Given the description of an element on the screen output the (x, y) to click on. 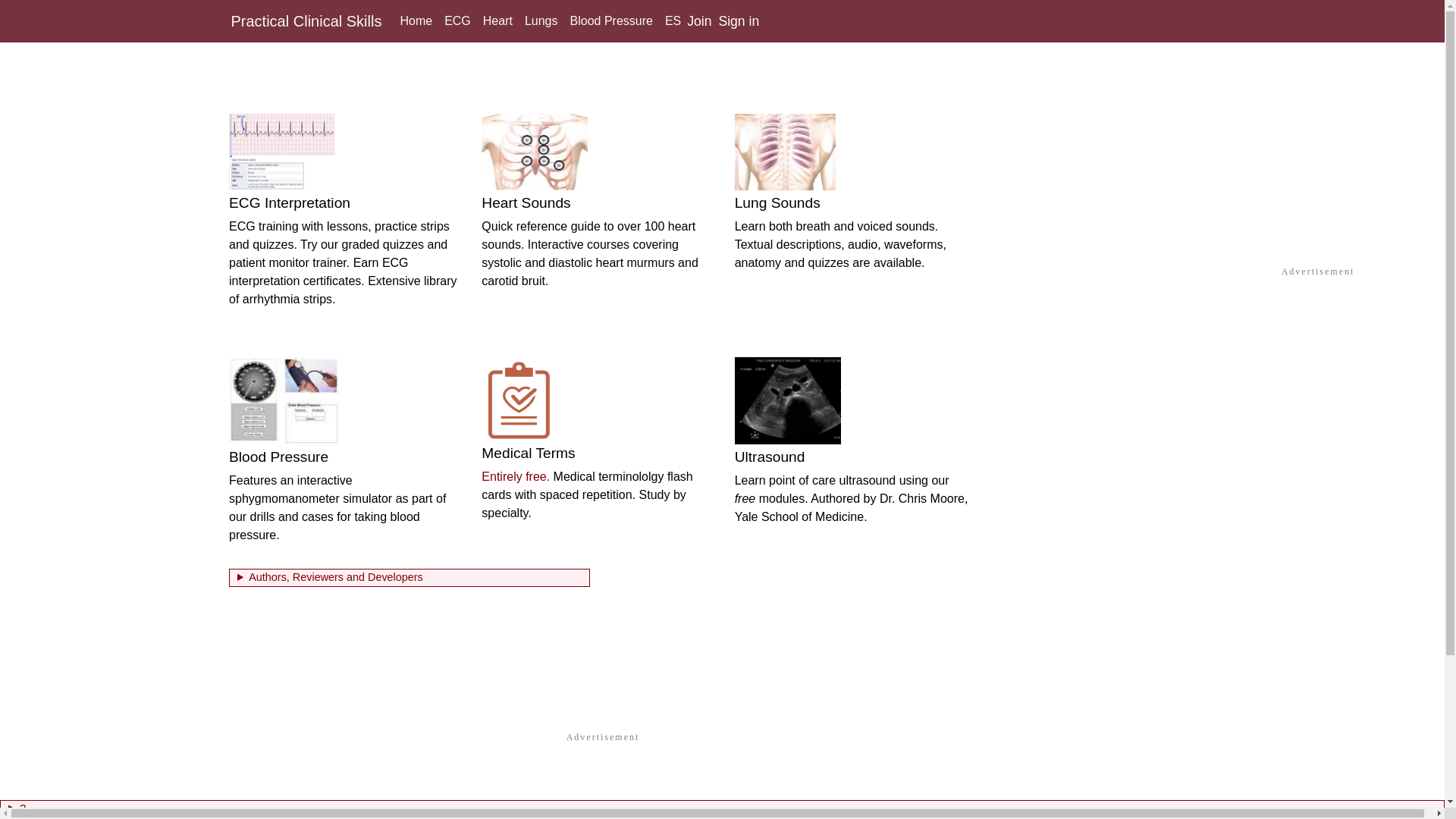
Home (415, 21)
Practical Clinical Skills (305, 20)
Lungs (541, 21)
ECG (457, 21)
ES (673, 21)
Sign in (737, 21)
